Given the description of an element on the screen output the (x, y) to click on. 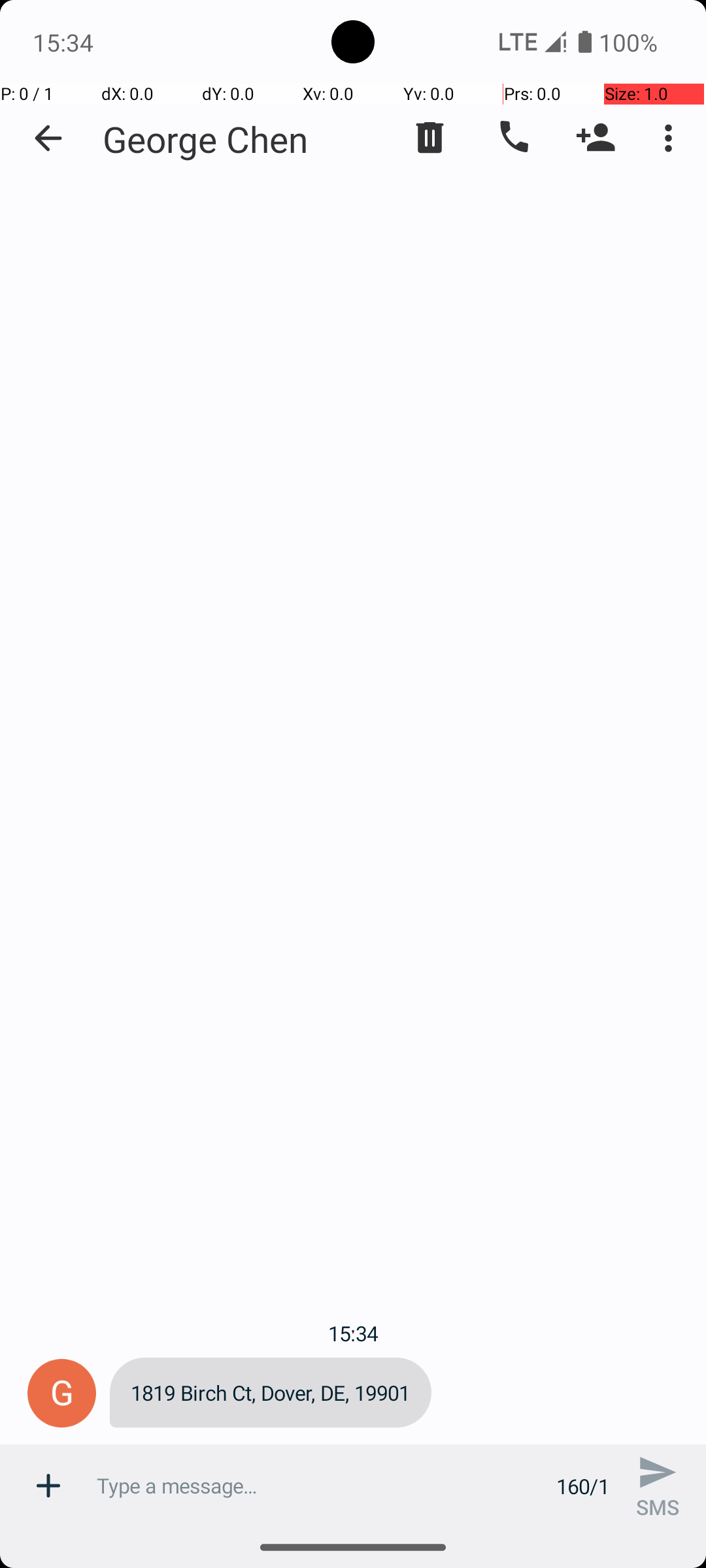
George Chen Element type: android.widget.TextView (205, 138)
1819 Birch Ct, Dover, DE, 19901 Element type: android.widget.TextView (270, 1392)
